Given the description of an element on the screen output the (x, y) to click on. 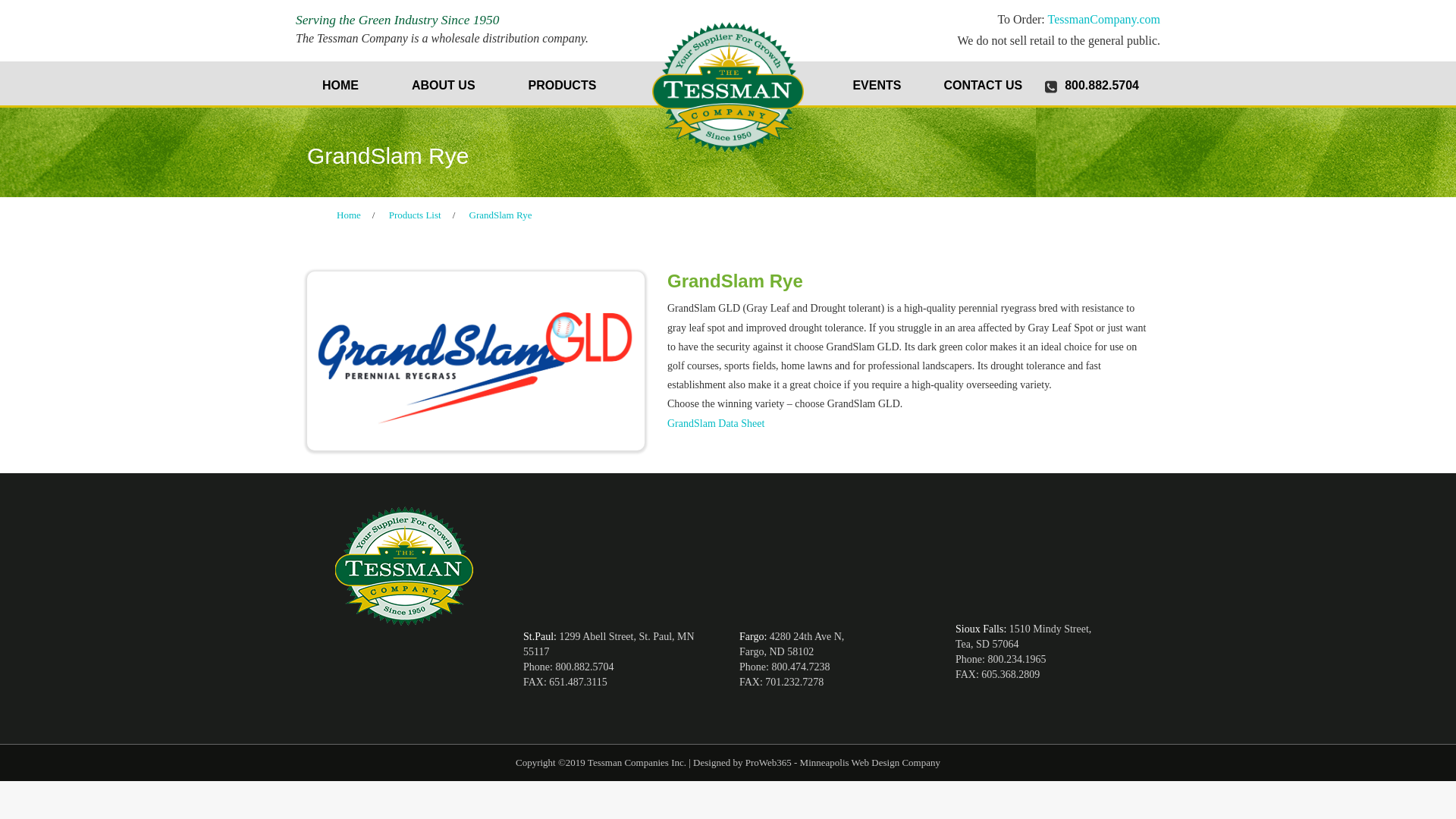
PRODUCTS (562, 83)
ProWeb365 - Minneapolis Web Design Company (842, 762)
GrandSlam Rye (500, 215)
Products List (414, 215)
HOME (340, 83)
Products List (414, 215)
EVENTS (876, 83)
GrandSlam Data Sheet (715, 423)
TessmanCompany.com (1104, 19)
ProWeb365 - Minneapolis Web Design Company (842, 762)
